Given the description of an element on the screen output the (x, y) to click on. 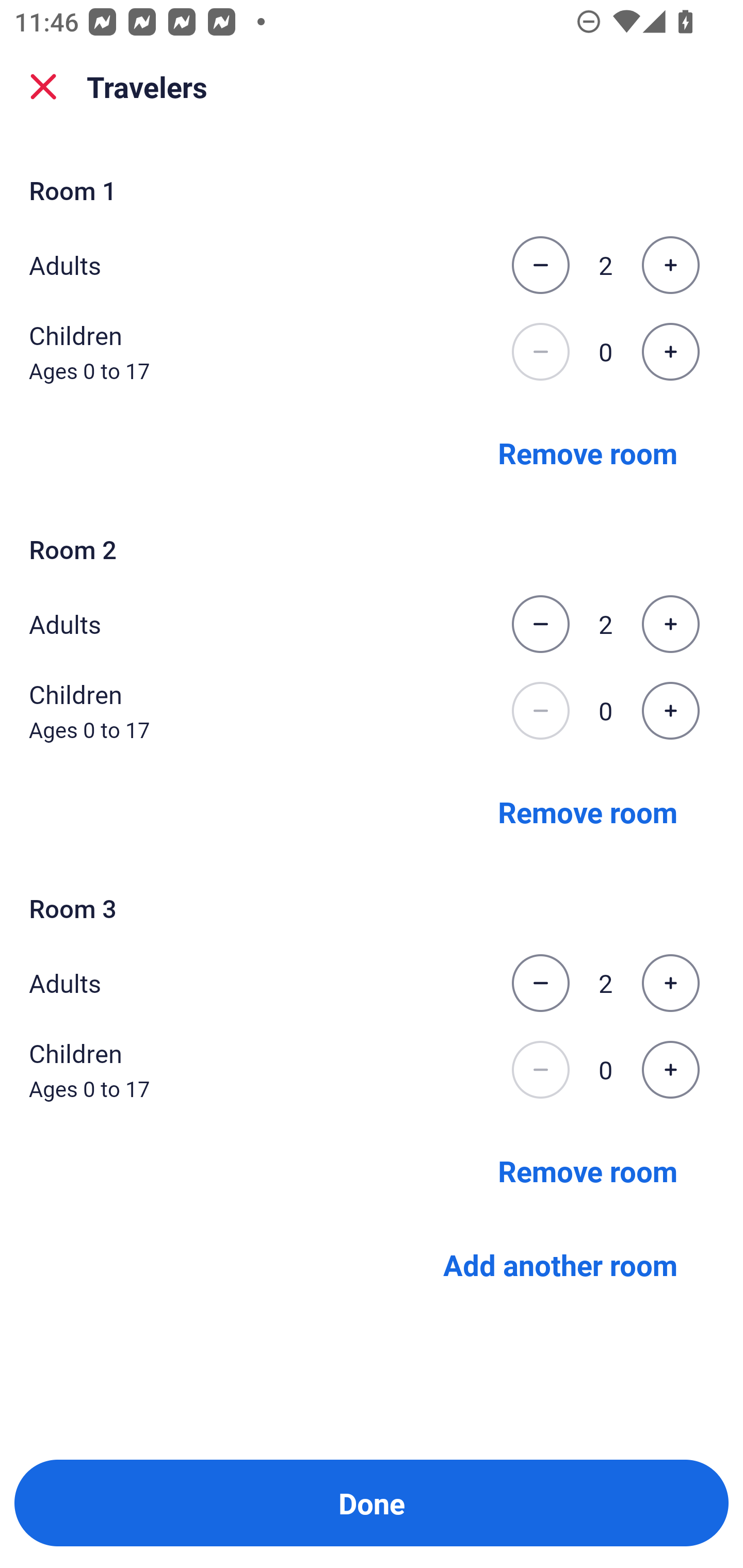
close (43, 86)
Decrease the number of adults (540, 264)
Increase the number of adults (670, 264)
Decrease the number of children (540, 351)
Increase the number of children (670, 351)
Remove room (588, 452)
Decrease the number of adults (540, 623)
Increase the number of adults (670, 623)
Decrease the number of children (540, 710)
Increase the number of children (670, 710)
Remove room (588, 811)
Decrease the number of adults (540, 983)
Increase the number of adults (670, 983)
Decrease the number of children (540, 1070)
Increase the number of children (670, 1070)
Remove room (588, 1170)
Add another room (560, 1264)
Done (371, 1502)
